Given the description of an element on the screen output the (x, y) to click on. 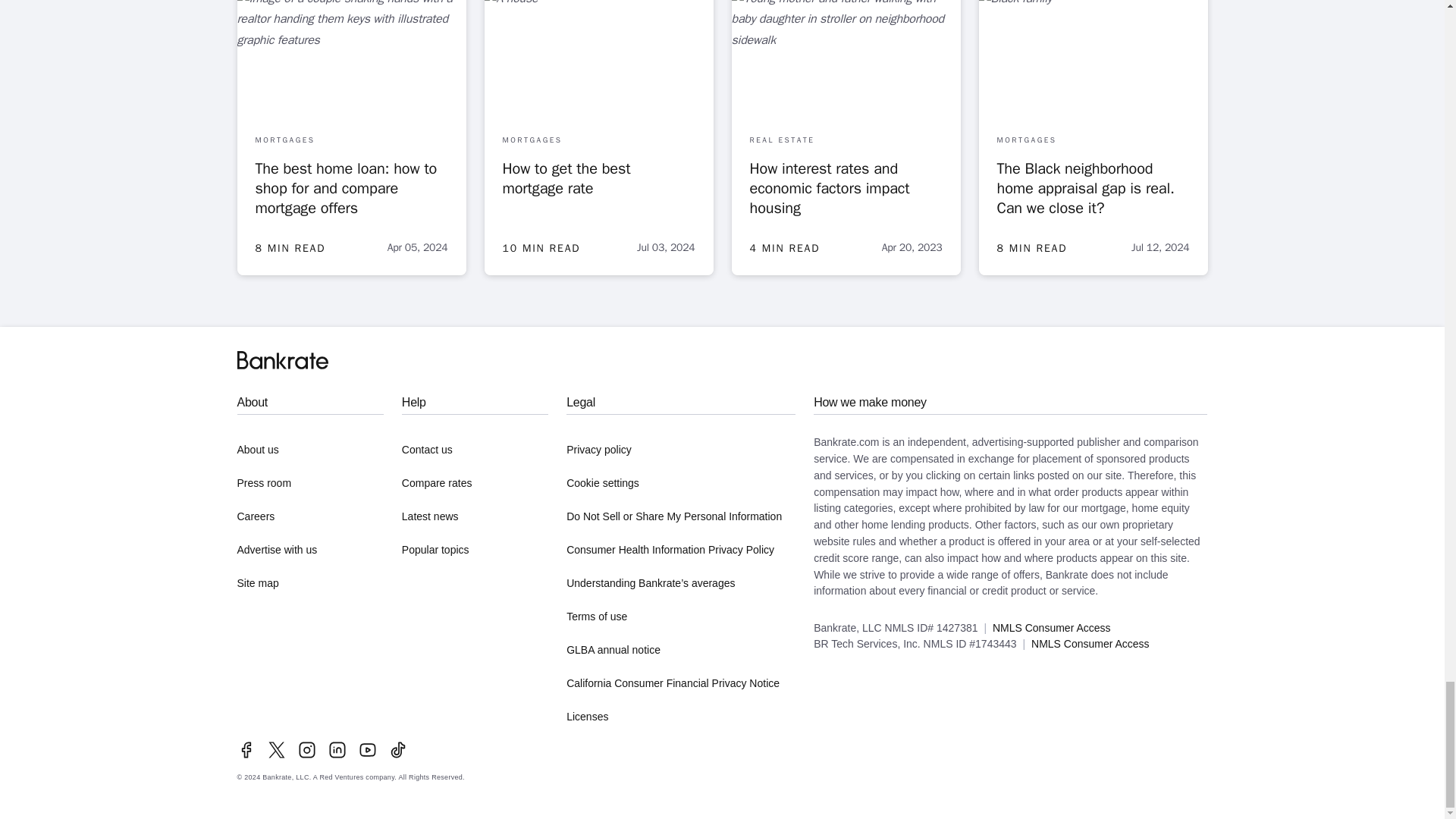
LinkedIn logo (336, 750)
Bankrate (281, 360)
Twitter logo (275, 750)
Facebook logo (244, 750)
TikTok logo (397, 750)
YouTube logo (366, 750)
Instagram logo (306, 750)
